Given the description of an element on the screen output the (x, y) to click on. 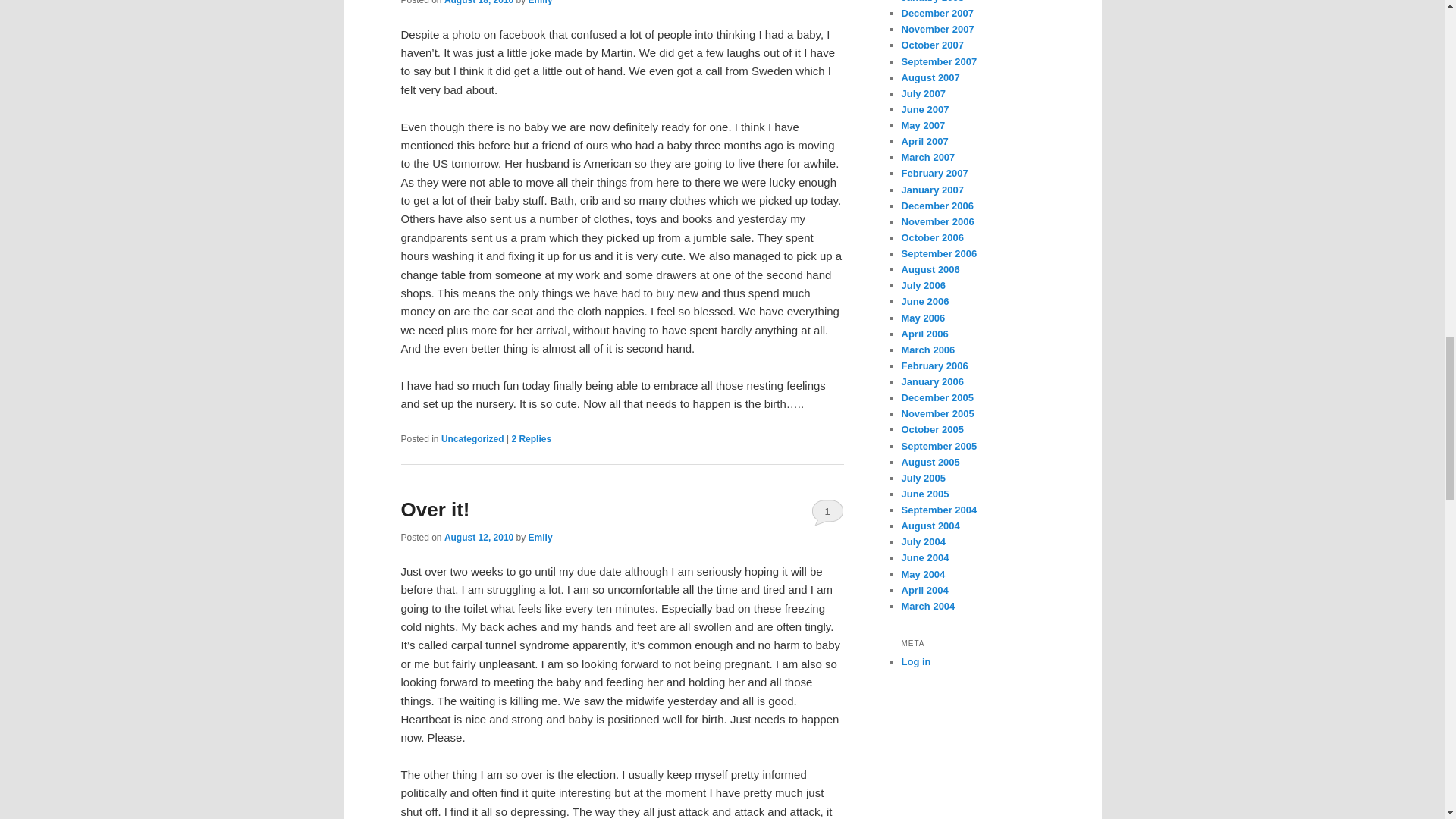
Emily (540, 537)
2 Replies (531, 439)
August 18, 2010 (478, 2)
5:39 pm (478, 2)
Emily (540, 2)
August 12, 2010 (478, 537)
12:34 pm (478, 537)
Uncategorized (472, 439)
Over it! (434, 508)
View all posts by Emily (540, 537)
